Given the description of an element on the screen output the (x, y) to click on. 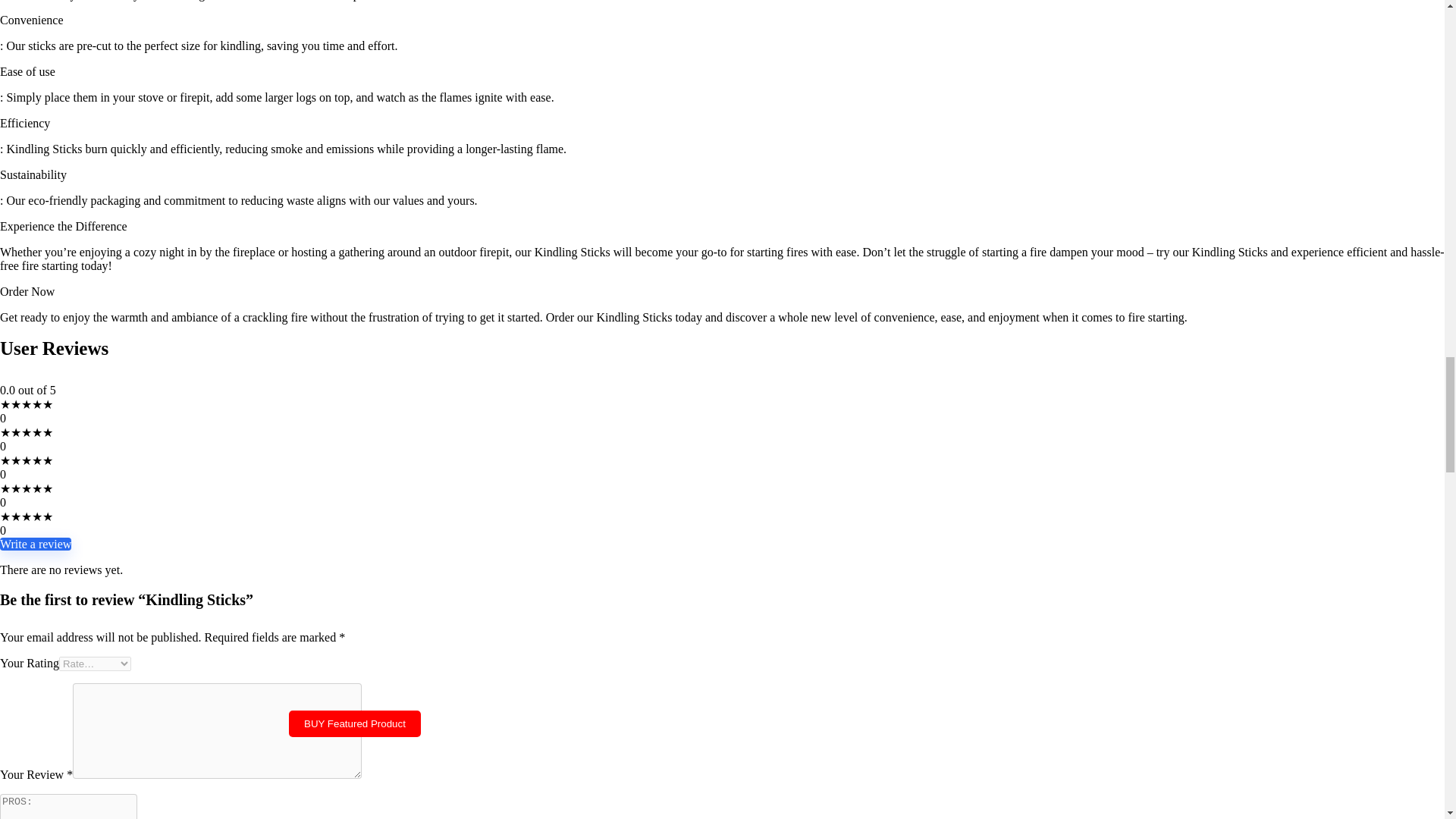
Write a review (35, 543)
